Given the description of an element on the screen output the (x, y) to click on. 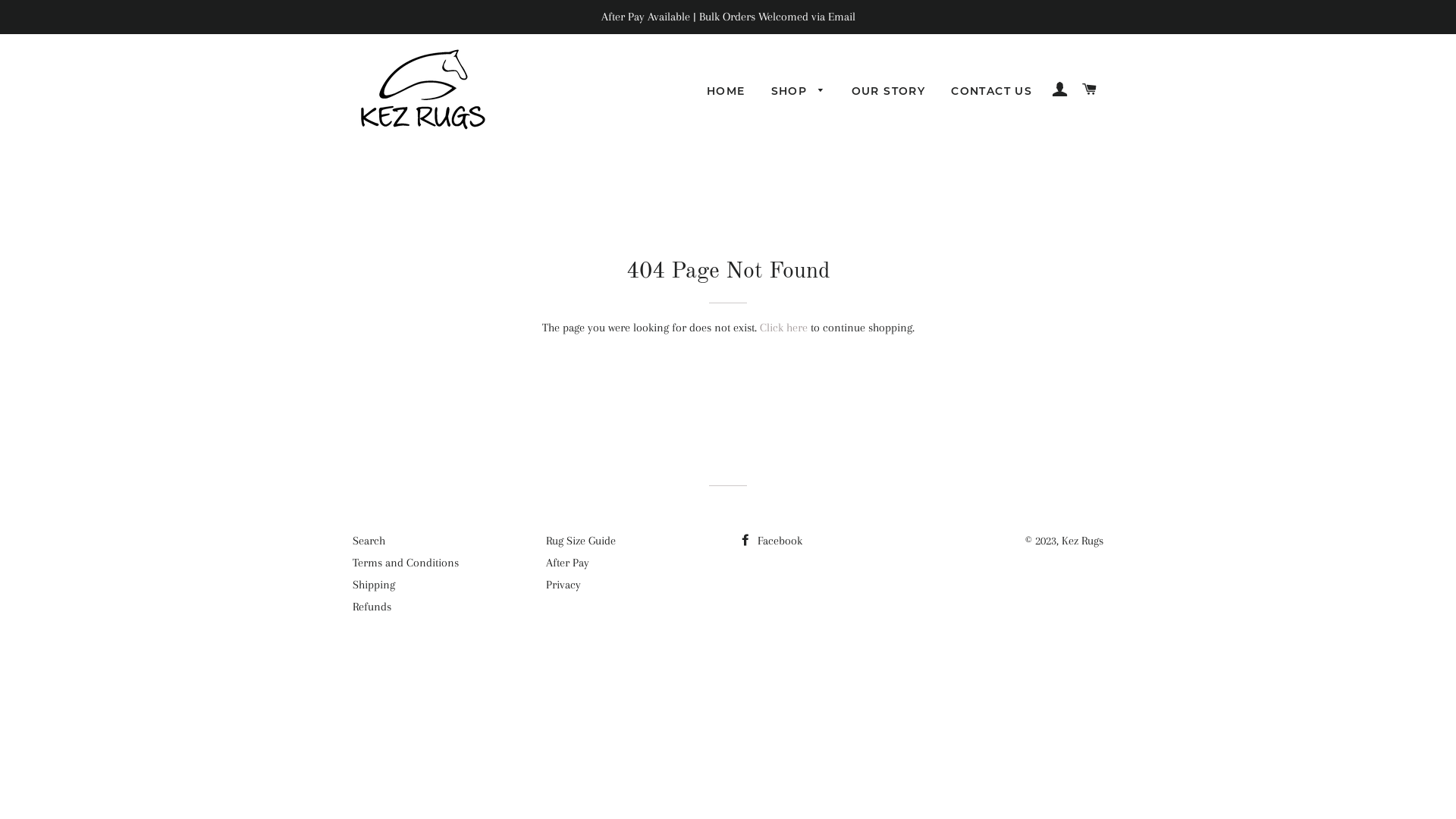
LOG IN Element type: text (1059, 89)
Kez Rugs Element type: text (1082, 540)
CONTACT US Element type: text (991, 91)
Facebook Element type: text (770, 540)
After Pay Element type: text (567, 562)
Shipping Element type: text (373, 584)
CART Element type: text (1089, 89)
Refunds Element type: text (371, 606)
Rug Size Guide Element type: text (580, 540)
OUR STORY Element type: text (888, 91)
Click here Element type: text (783, 327)
HOME Element type: text (725, 91)
SHOP Element type: text (798, 91)
Search Element type: text (368, 540)
Terms and Conditions Element type: text (405, 562)
Privacy Element type: text (563, 584)
